Given the description of an element on the screen output the (x, y) to click on. 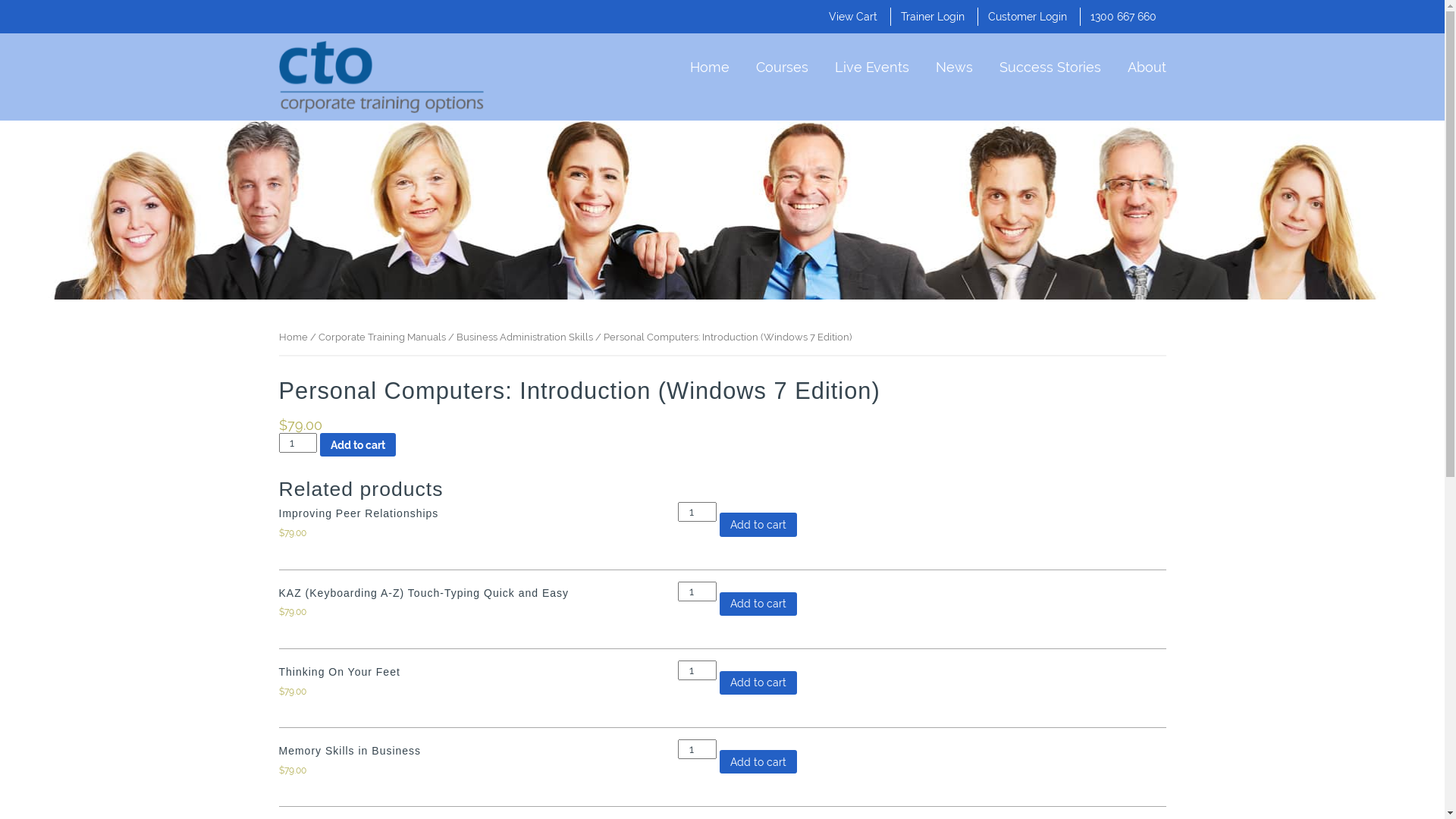
Corporate Training Manuals Element type: text (381, 336)
Add to cart Element type: text (758, 603)
News Element type: text (953, 65)
Live Events Element type: text (871, 65)
Courses Element type: text (781, 65)
Add to cart Element type: text (758, 761)
Success Stories Element type: text (1050, 65)
View Cart Element type: text (852, 16)
Home Element type: text (293, 336)
Business Administration Skills Element type: text (524, 336)
Trainer Login Element type: text (932, 16)
About Element type: text (1145, 65)
Add to cart Element type: text (357, 444)
1300 667 660 Element type: text (1123, 16)
Corporate Training Options Element type: hover (381, 76)
Customer Login Element type: text (1026, 16)
Home Element type: text (709, 65)
Add to cart Element type: text (758, 682)
Add to cart Element type: text (758, 524)
